Given the description of an element on the screen output the (x, y) to click on. 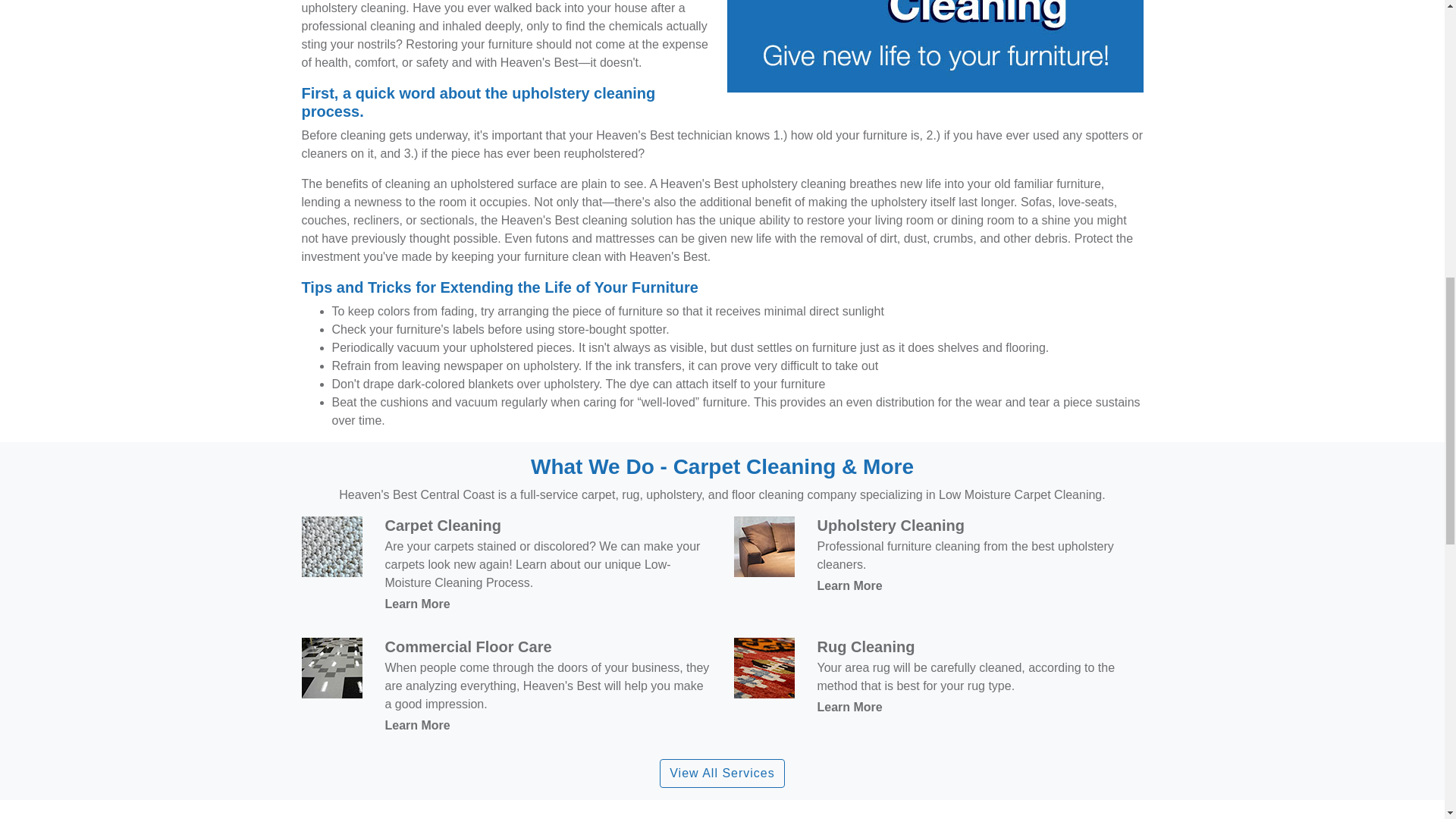
Rug Cleaning (865, 646)
Learn More (849, 585)
Upholstery Cleaning (889, 524)
Carpet Cleaning (442, 524)
Learn More (849, 707)
View All Services (721, 773)
Learn More (417, 603)
Learn More (417, 725)
Commercial Floor Care (468, 646)
